Given the description of an element on the screen output the (x, y) to click on. 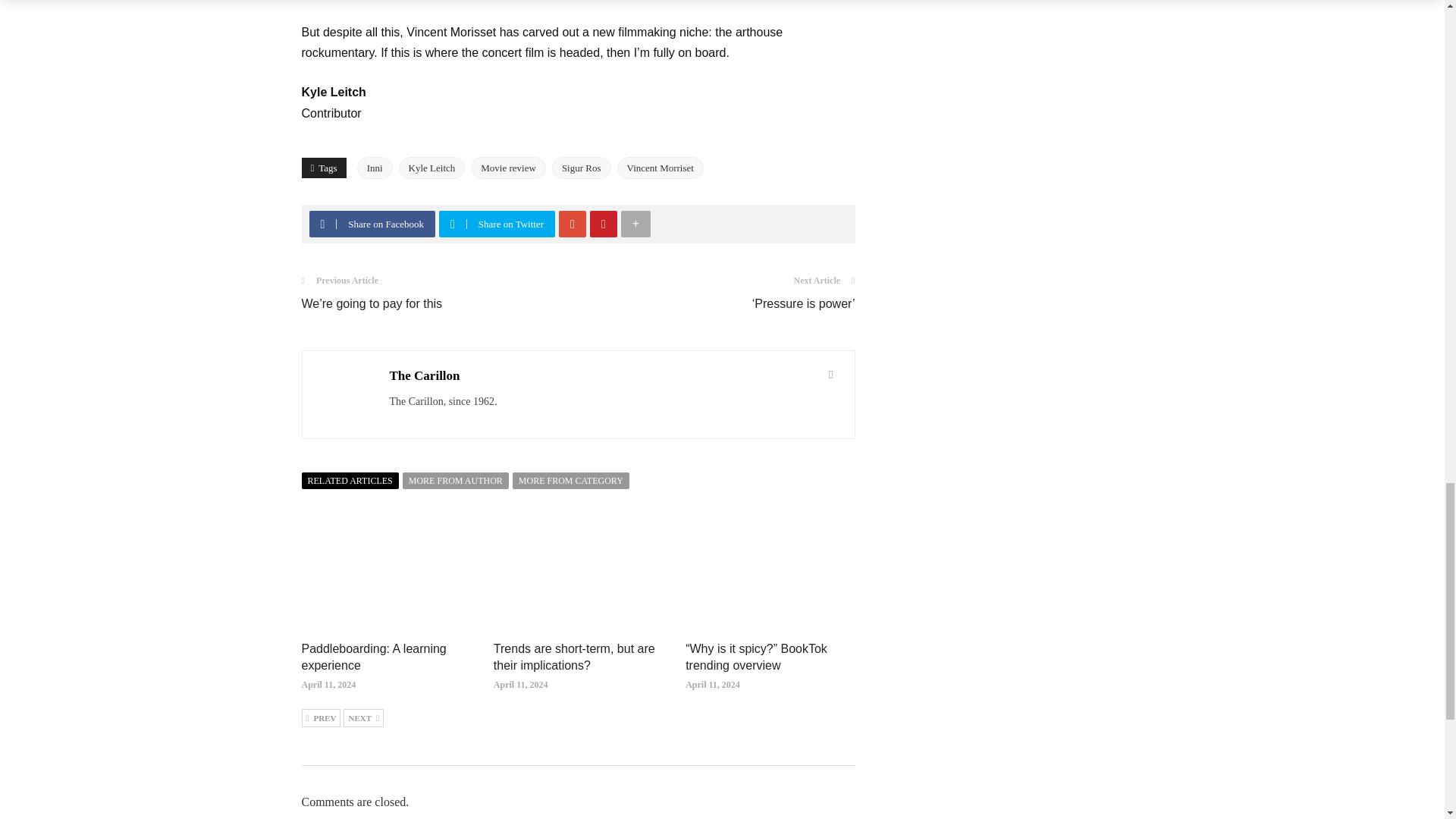
View all posts tagged Kyle Leitch (431, 168)
View all posts tagged Movie review (508, 168)
View all posts tagged Inni (374, 168)
View all posts tagged Sigur Ros (581, 168)
View all posts tagged Vincent Morriset (660, 168)
